Given the description of an element on the screen output the (x, y) to click on. 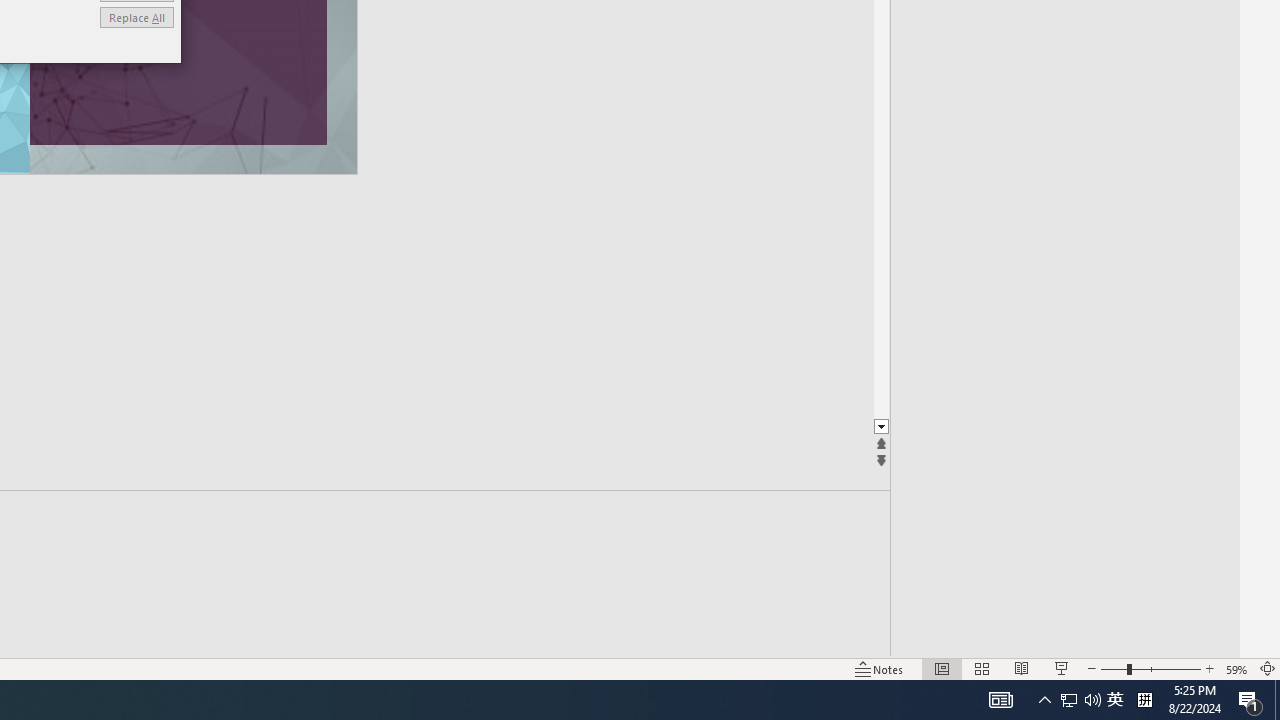
Tray Input Indicator - Chinese (Simplified, China) (1144, 699)
Notification Chevron (1044, 699)
Zoom 59% (1236, 668)
User Promoted Notification Area (1080, 699)
Replace All (1069, 699)
